Given the description of an element on the screen output the (x, y) to click on. 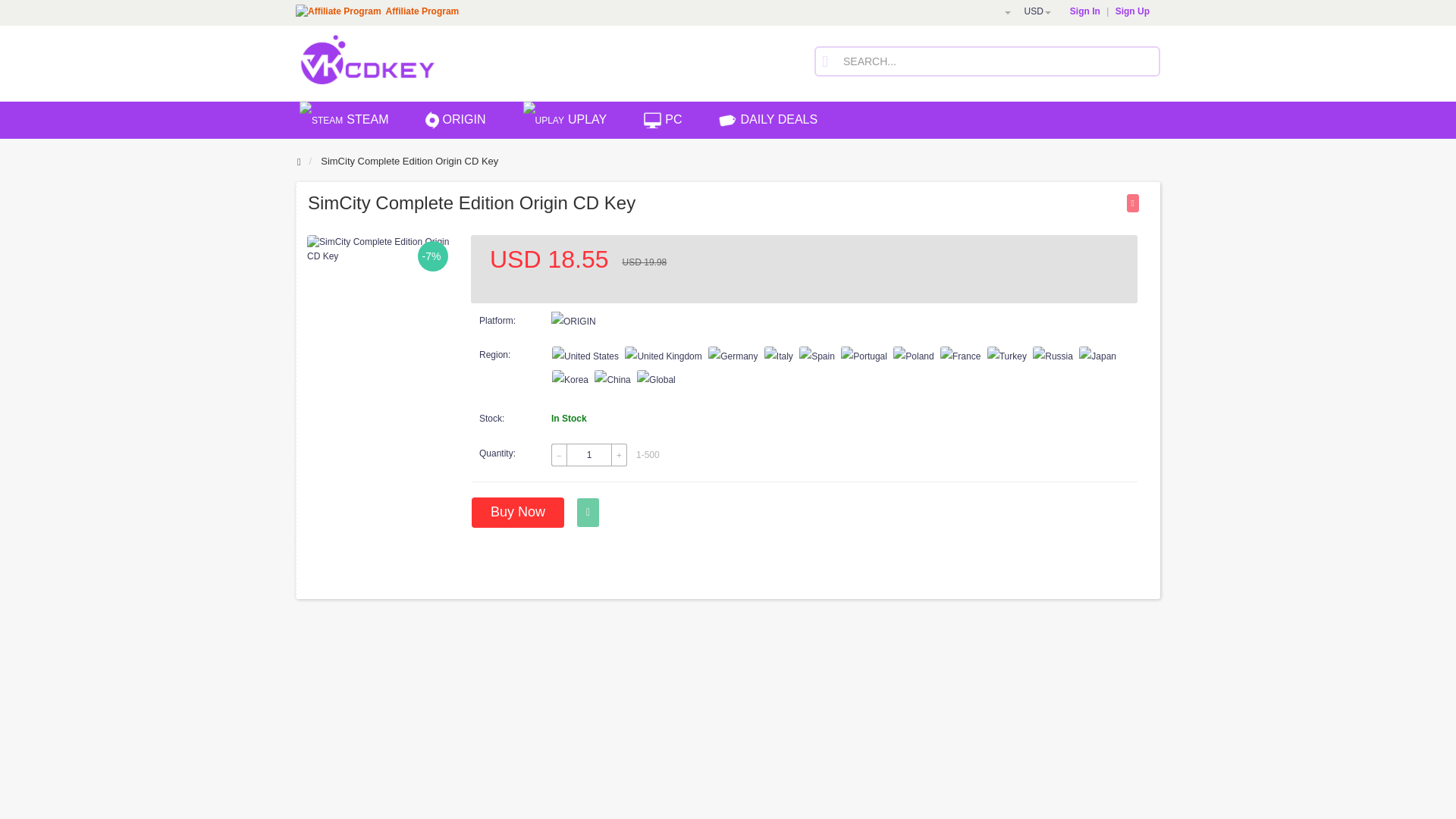
ORIGIN (457, 123)
China (612, 379)
DAILY DEALS (770, 123)
STEAM (345, 123)
United States (584, 356)
France (959, 356)
Add Shopping Cart (587, 512)
Korea (569, 379)
United Kingdom (662, 356)
vkcdkey.com, SimCity Complete Edition Origin CD Key (382, 249)
Collection (1132, 203)
Russia (1052, 356)
Poland (913, 356)
Global (656, 379)
Germany (732, 356)
